Given the description of an element on the screen output the (x, y) to click on. 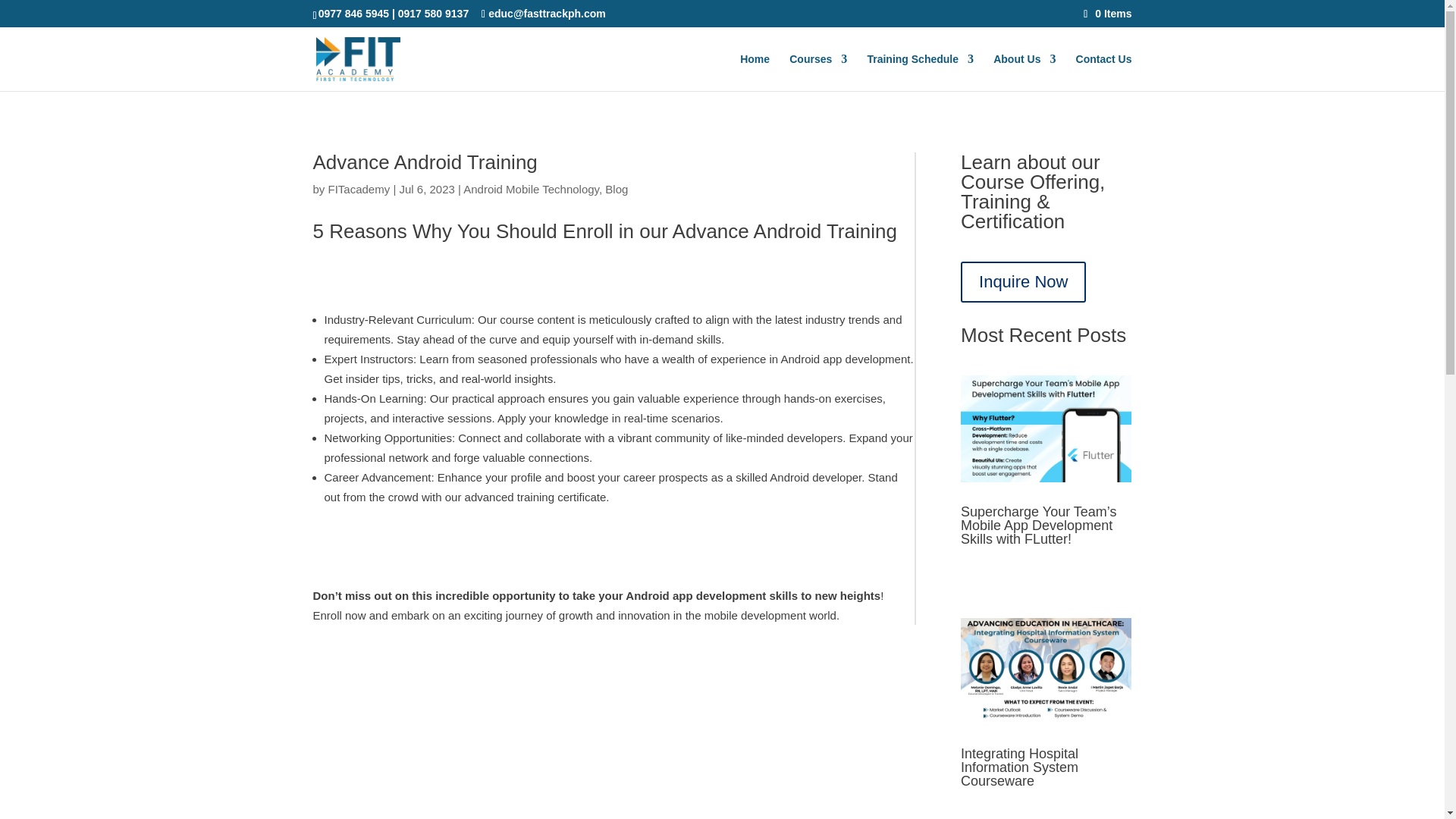
0977 846 5945 (353, 13)
0 Items (1107, 13)
Inquire Now (1023, 282)
Courses (818, 72)
Training Schedule (920, 72)
Android Mobile Technology (530, 188)
Contact Us (1103, 72)
FITacademy (359, 188)
About Us (1023, 72)
Posts by FITacademy (359, 188)
0917 580 9137 (432, 13)
Blog (616, 188)
